Given the description of an element on the screen output the (x, y) to click on. 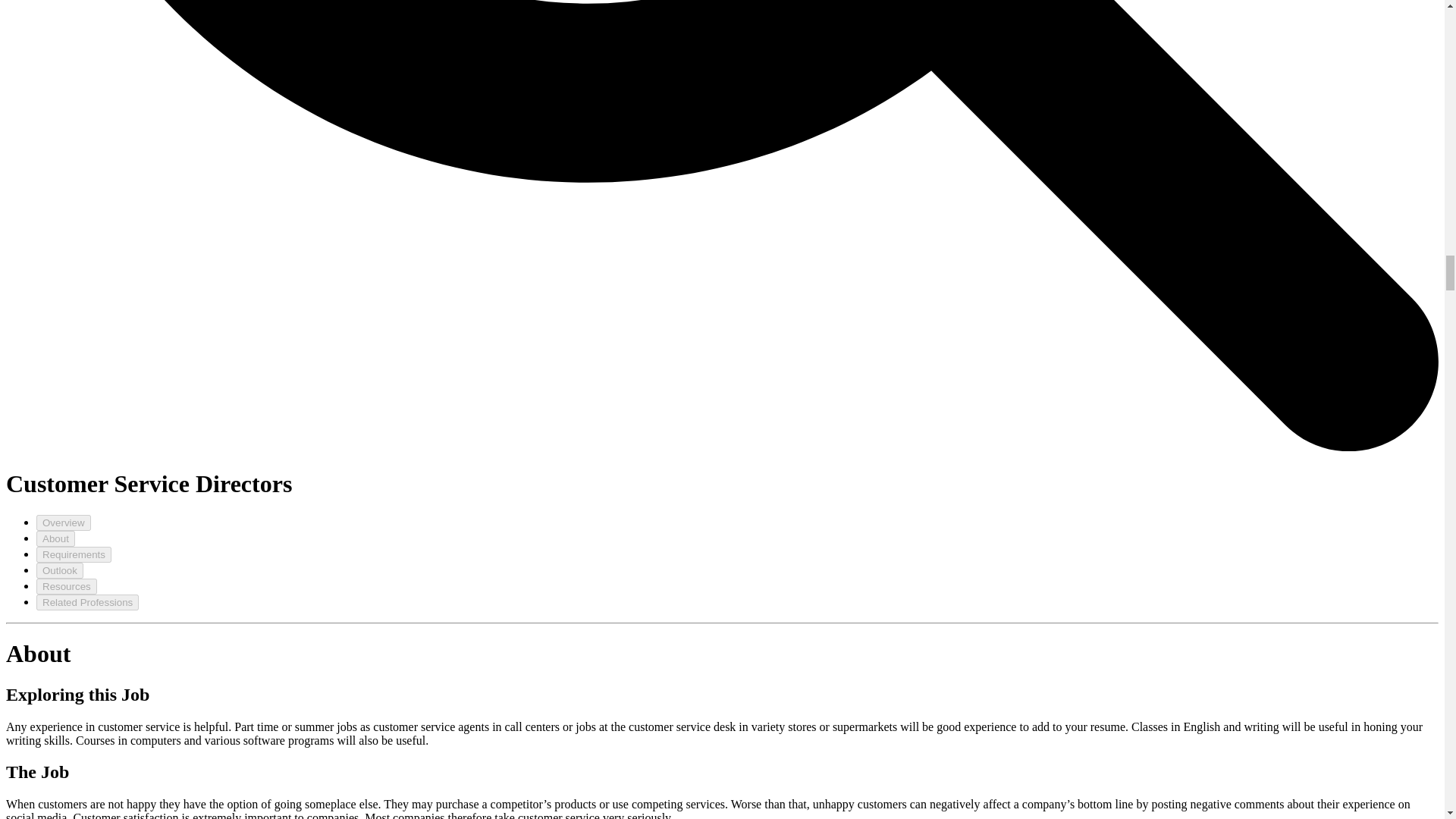
About (55, 538)
Related Professions (87, 602)
Outlook (59, 570)
Resources (66, 586)
Requirements (74, 554)
Overview (63, 522)
